Given the description of an element on the screen output the (x, y) to click on. 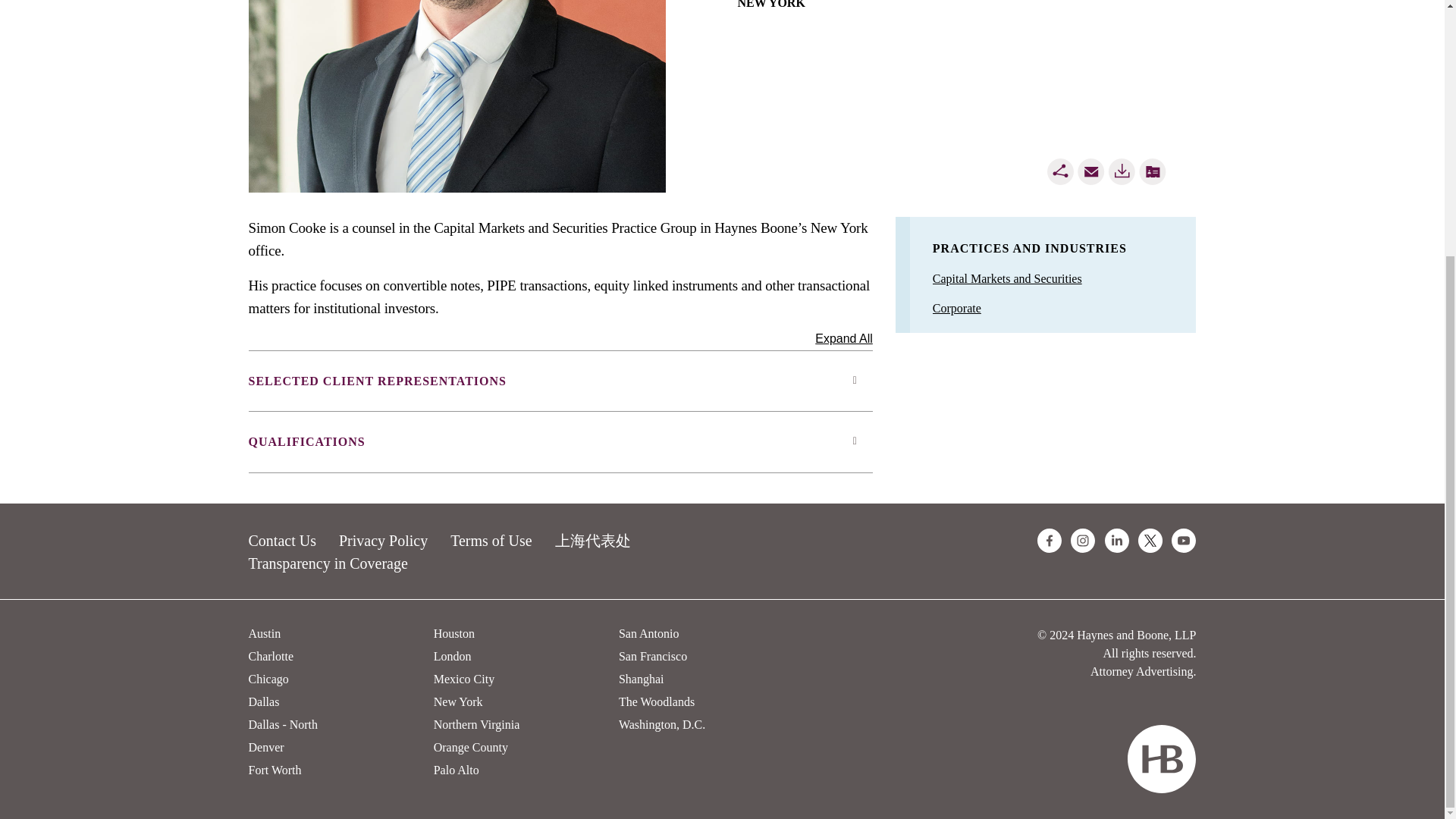
Combined Shape (1160, 758)
Terms of Use (490, 540)
Download PDF (1121, 171)
Austin (264, 633)
NEW YORK (770, 4)
Capital Markets and Securities (1007, 278)
Email (1091, 171)
Privacy Policy (383, 540)
Fort Worth (274, 769)
Expand All (843, 335)
